Given the description of an element on the screen output the (x, y) to click on. 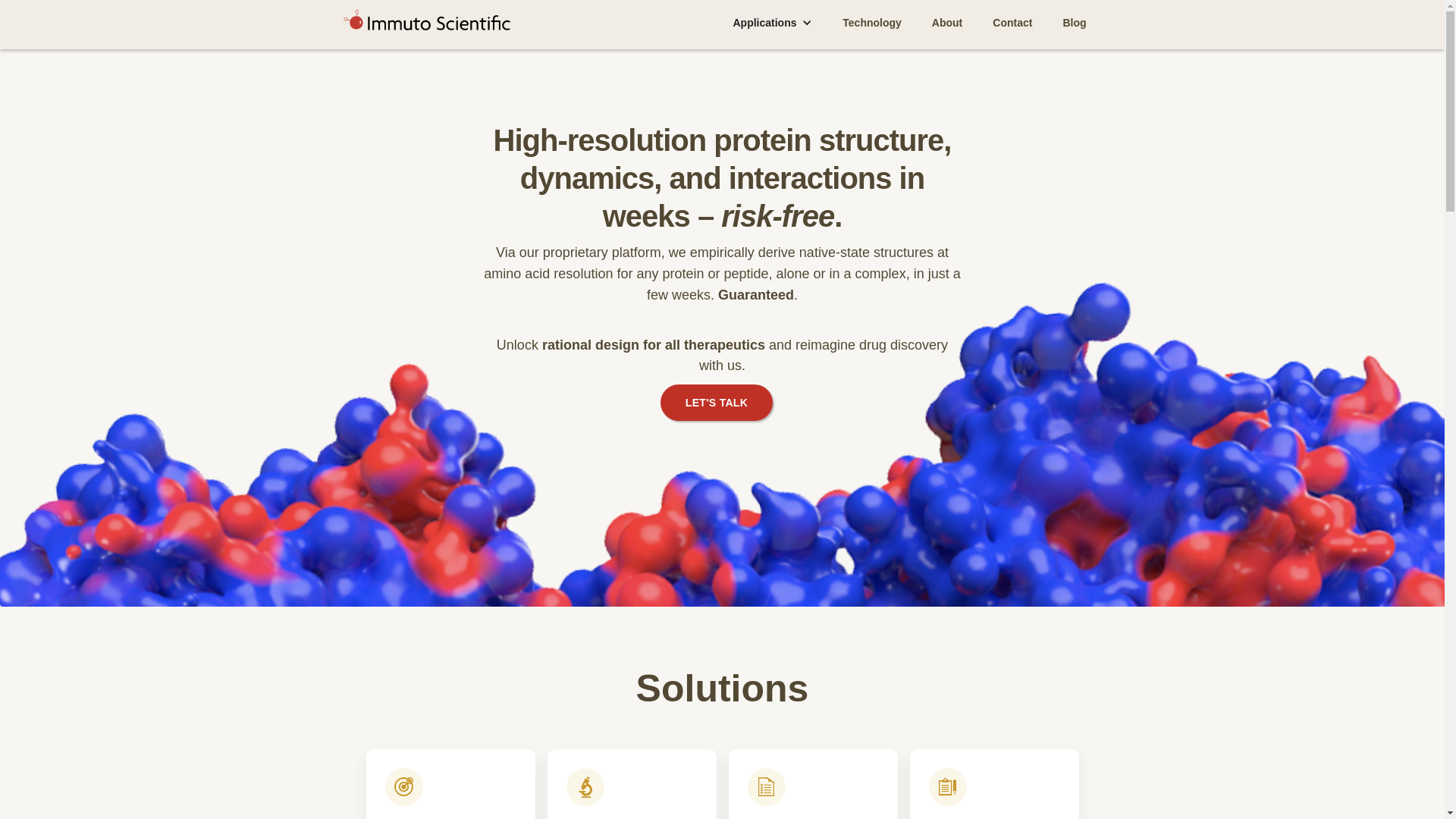
Contact (1011, 22)
Blog (1073, 22)
LET'S TALK (717, 402)
Technology (872, 22)
About (946, 22)
